Given the description of an element on the screen output the (x, y) to click on. 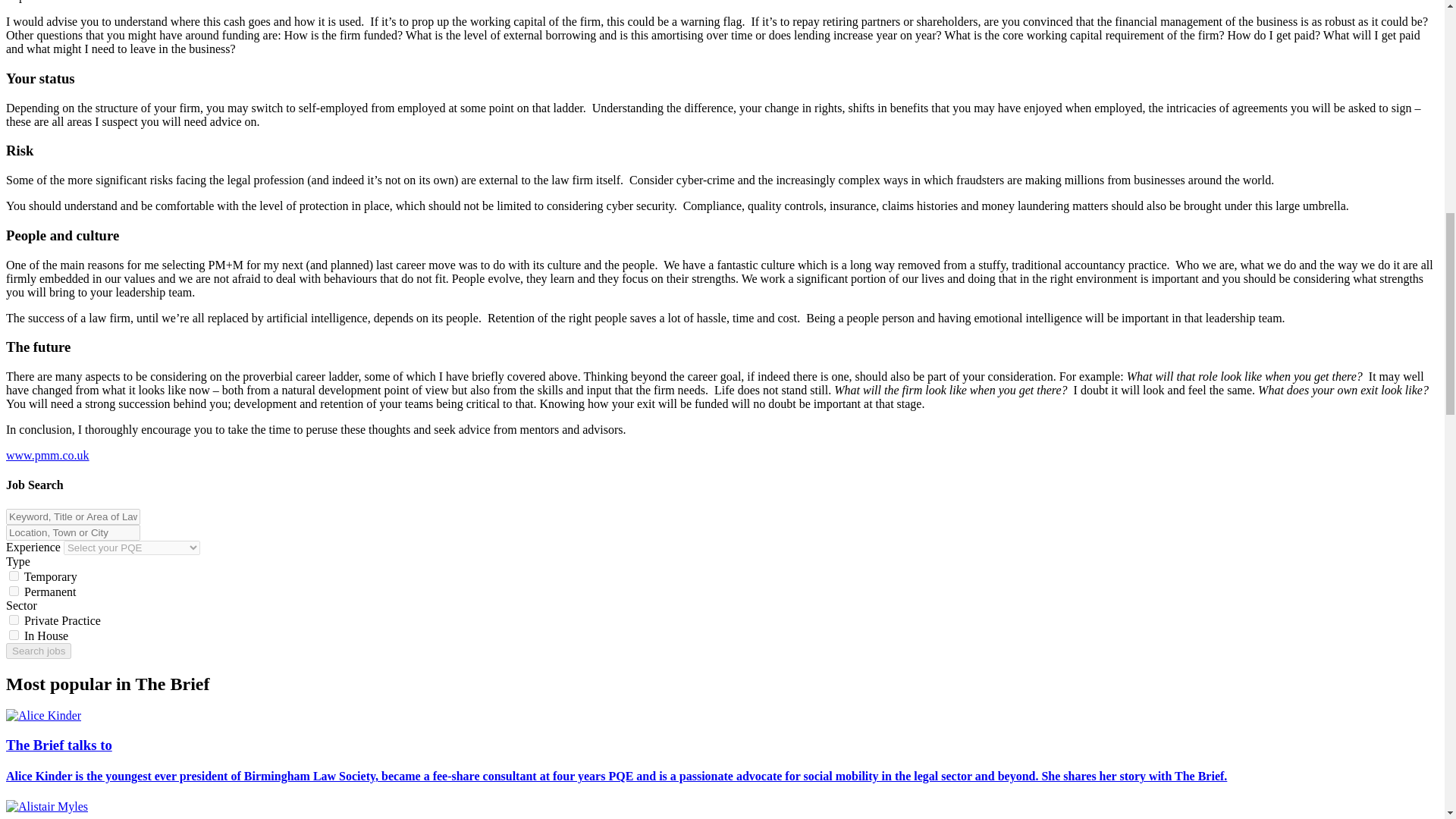
In House (13, 634)
Private Practice (13, 619)
Temporary (13, 575)
Permanent (13, 591)
